Given the description of an element on the screen output the (x, y) to click on. 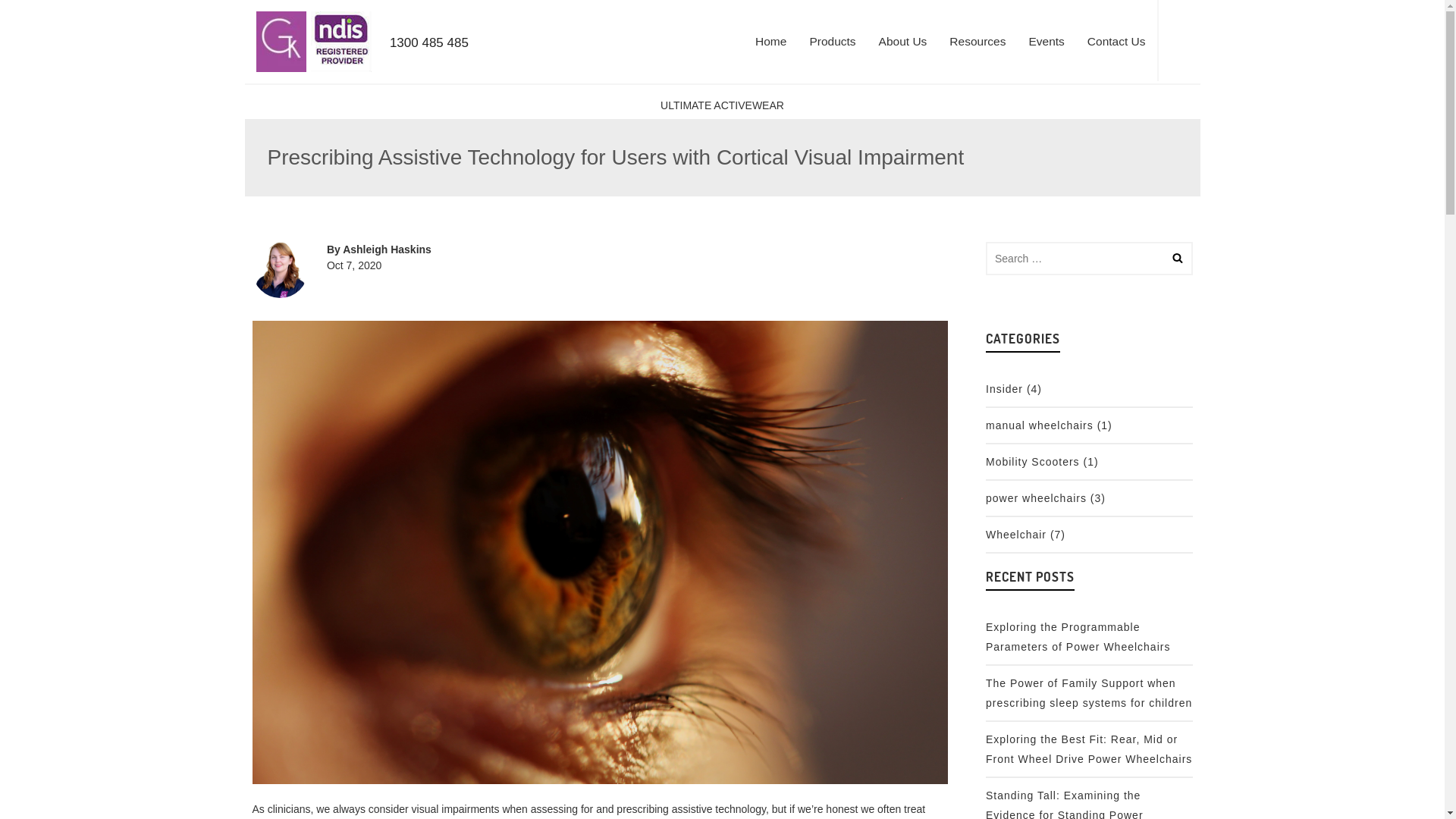
power wheelchairs (3) Element type: text (1045, 498)
1300 485 485 Element type: text (453, 59)
Home Element type: text (770, 41)
Insider (4) Element type: text (1013, 388)
Exploring the Programmable Parameters of Power Wheelchairs Element type: text (1077, 636)
Events Element type: text (1045, 41)
Contact Us Element type: text (1116, 41)
Products Element type: text (831, 41)
Search Element type: text (1184, 40)
Wheelchair (7) Element type: text (1025, 534)
Mobility Scooters (1) Element type: text (1041, 461)
manual wheelchairs (1) Element type: text (1048, 425)
Resources Element type: text (977, 41)
About Us Element type: text (902, 41)
